Given the description of an element on the screen output the (x, y) to click on. 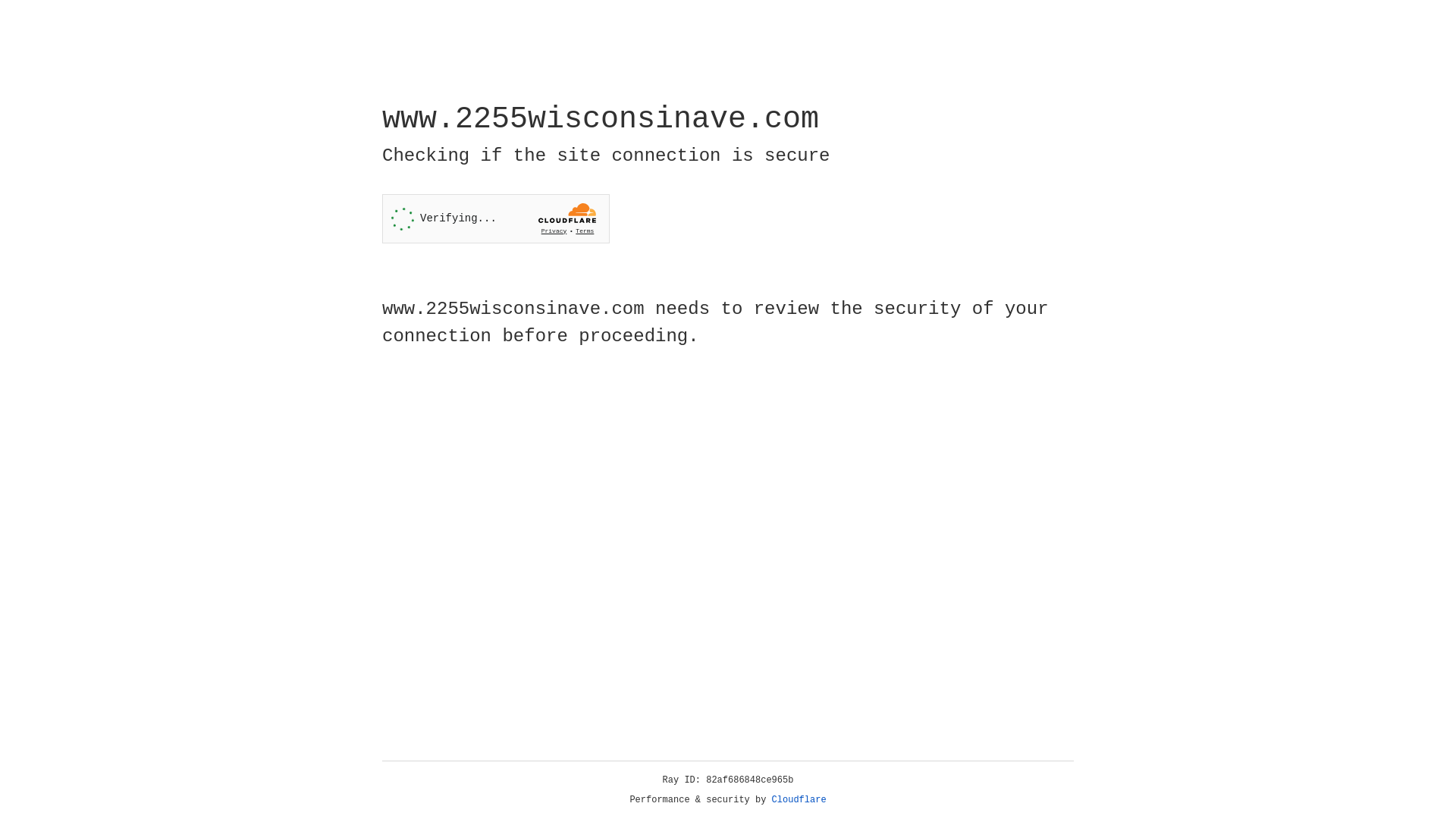
Cloudflare Element type: text (798, 799)
Widget containing a Cloudflare security challenge Element type: hover (495, 218)
